Given the description of an element on the screen output the (x, y) to click on. 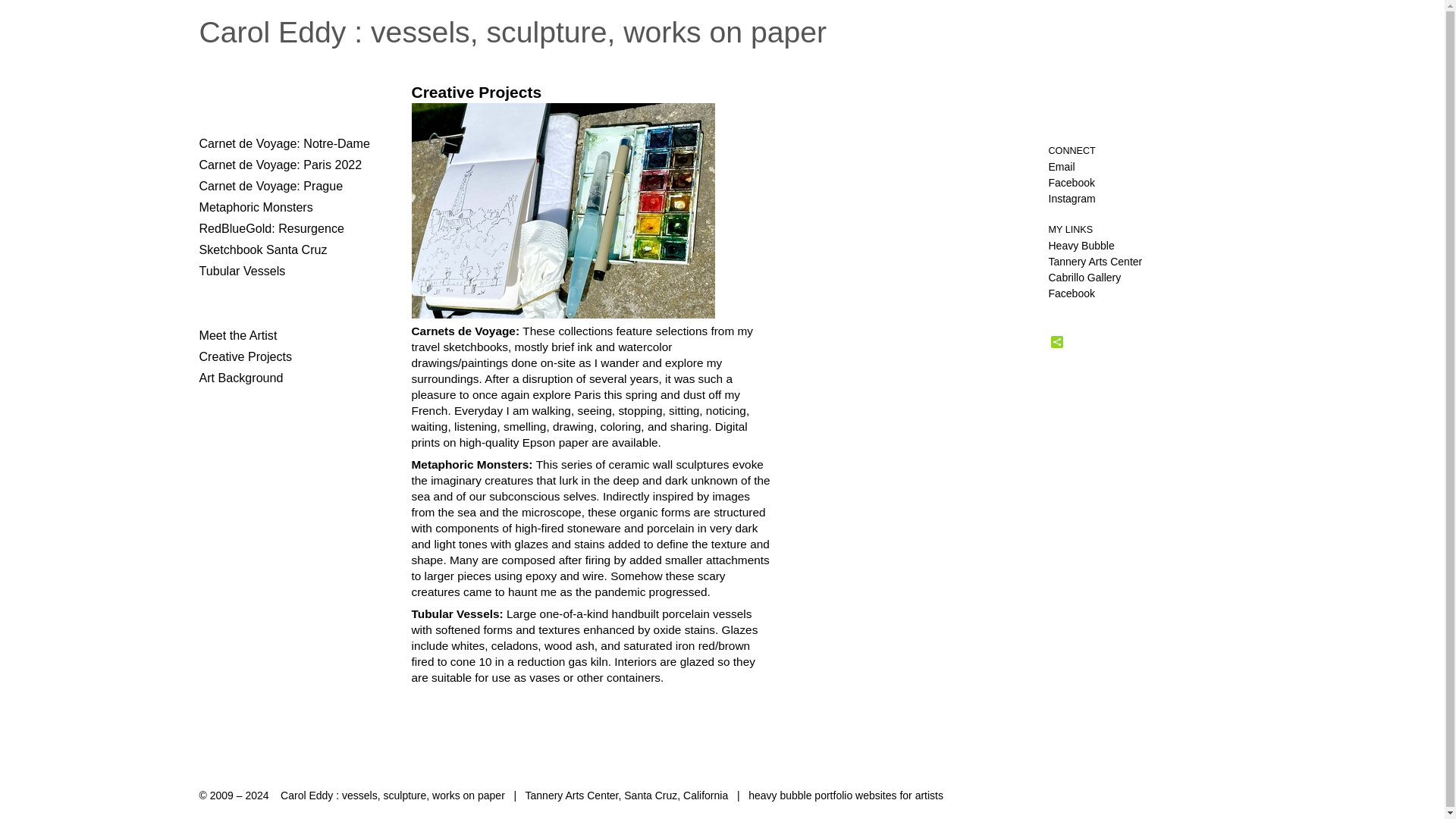
Cabrillo Gallery (1084, 277)
RedBlueGold: Resurgence (270, 228)
Home (512, 31)
Creative Projects (245, 356)
Instagram (1071, 198)
Tubular Vessels (241, 270)
heavy bubble portfolio websites for artists (845, 795)
Sketchbook Santa Cruz (262, 249)
Facebook (1071, 182)
Meet the Artist (237, 335)
Carnet de Voyage: Notre-Dame (283, 142)
Art Background (240, 377)
Email (1061, 166)
Tannery Arts Center (1094, 261)
Heavy Bubble (1080, 245)
